Given the description of an element on the screen output the (x, y) to click on. 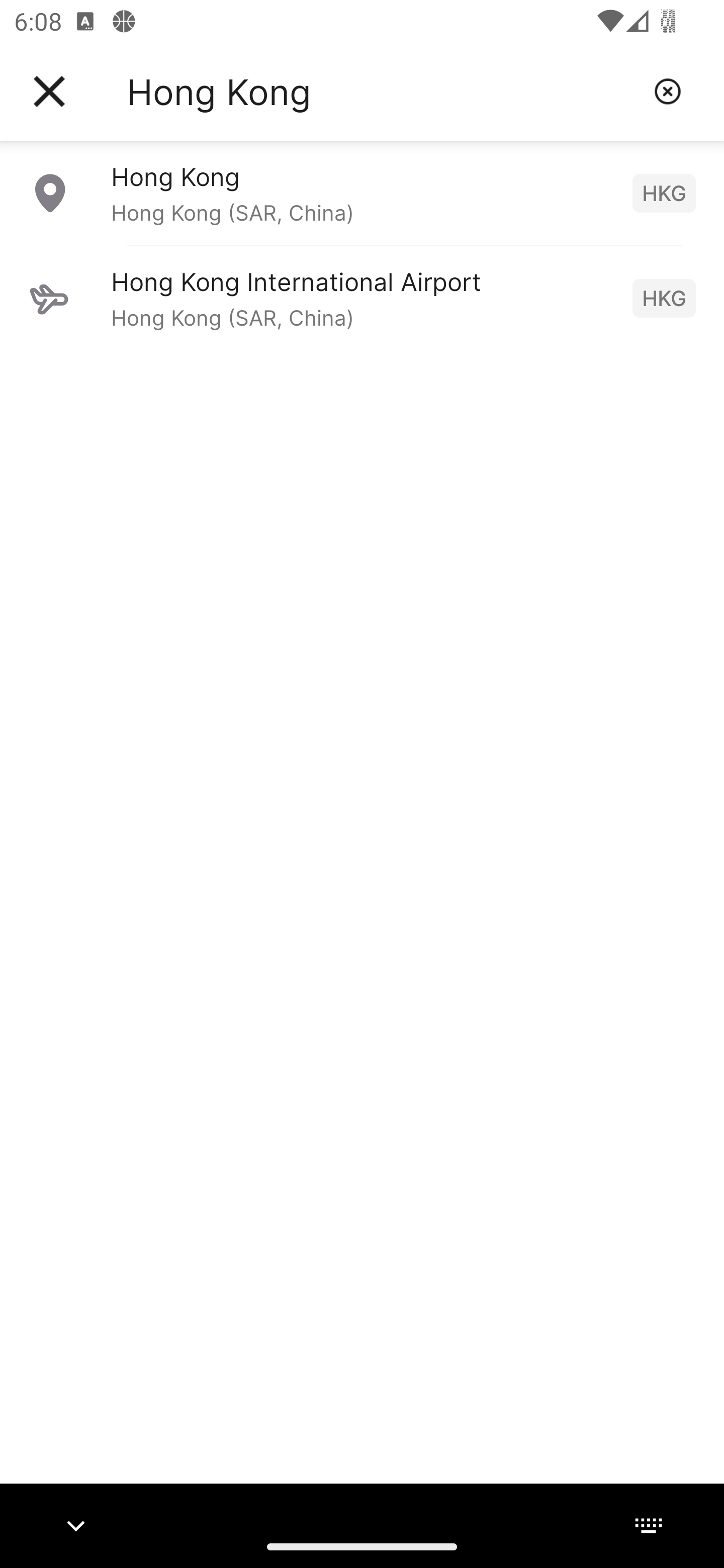
Hong Kong (382, 91)
Hong Kong Hong Kong (SAR, China) HKG (362, 192)
